Given the description of an element on the screen output the (x, y) to click on. 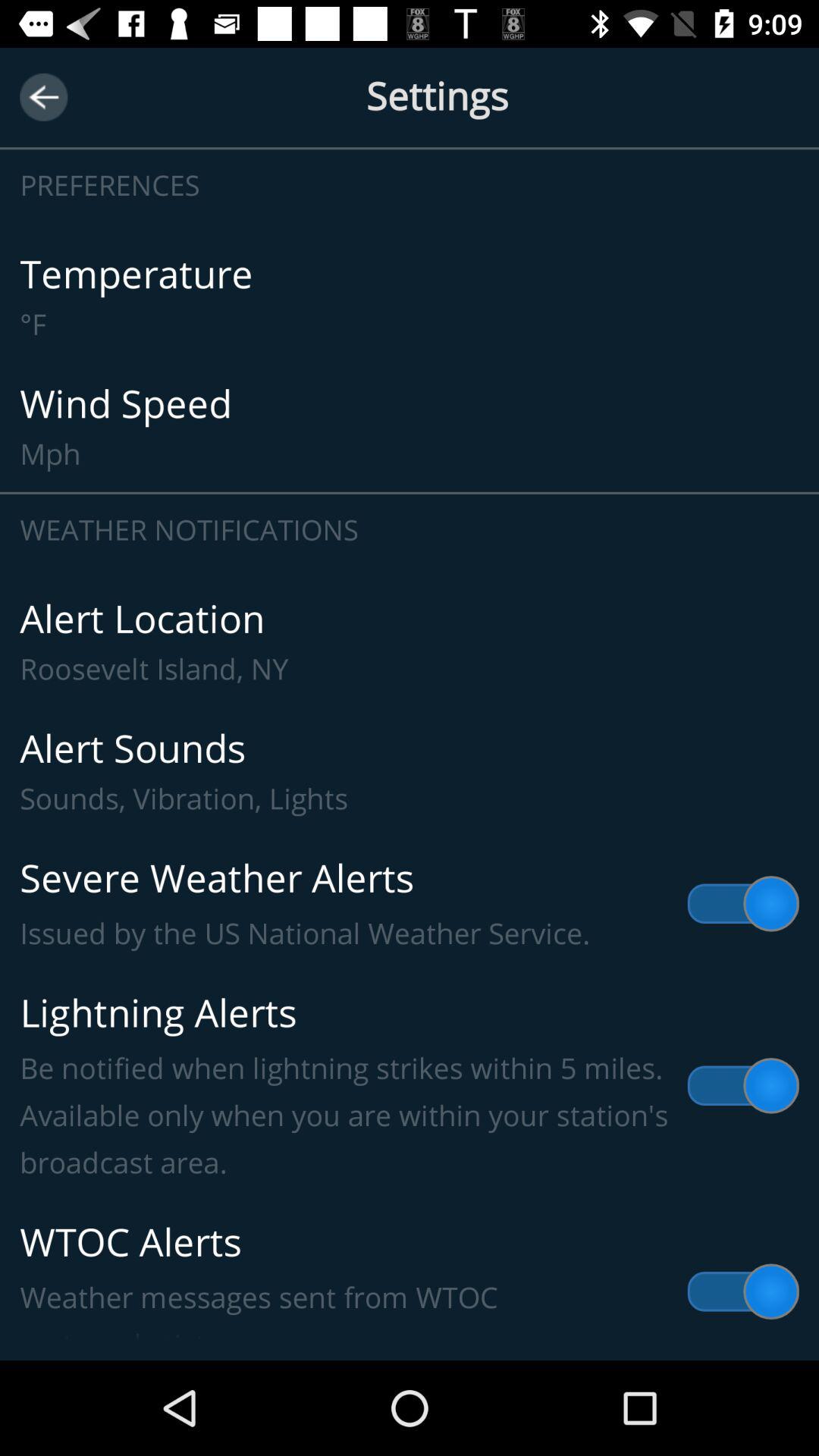
press the alert location roosevelt (409, 641)
